Given the description of an element on the screen output the (x, y) to click on. 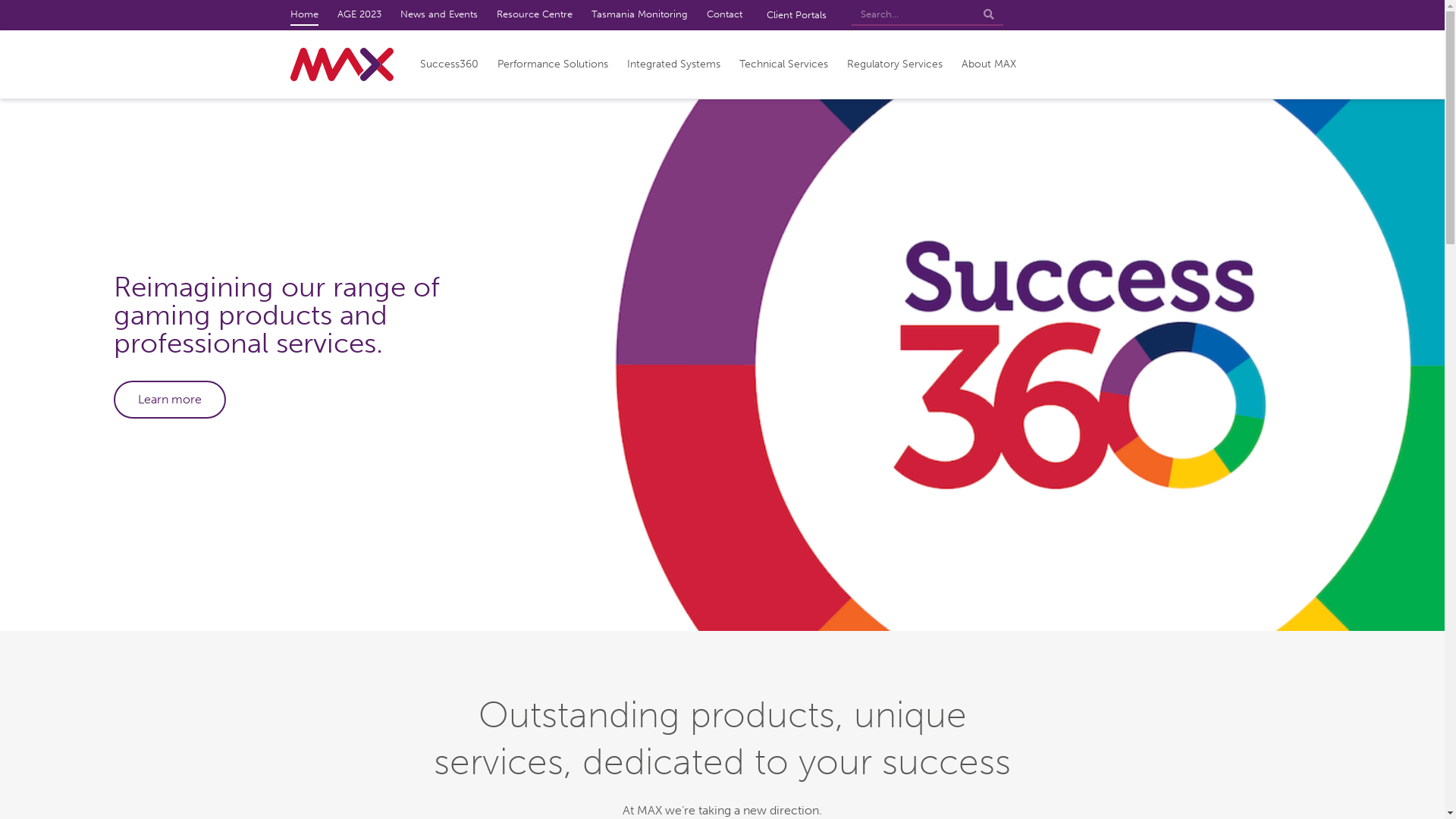
About MAX Element type: text (988, 64)
Client Portals Element type: text (796, 14)
Tasmania Monitoring Element type: text (639, 14)
News and Events Element type: text (438, 14)
Learn more Element type: text (169, 399)
Home Element type: text (303, 14)
Contact Element type: text (724, 14)
Regulatory Services Element type: text (893, 64)
Success360 Element type: text (449, 64)
Technical Services Element type: text (782, 64)
AGE 2023 Element type: text (358, 14)
Performance Solutions Element type: text (552, 64)
Integrated Systems Element type: text (672, 64)
Resource Centre Element type: text (533, 14)
